Given the description of an element on the screen output the (x, y) to click on. 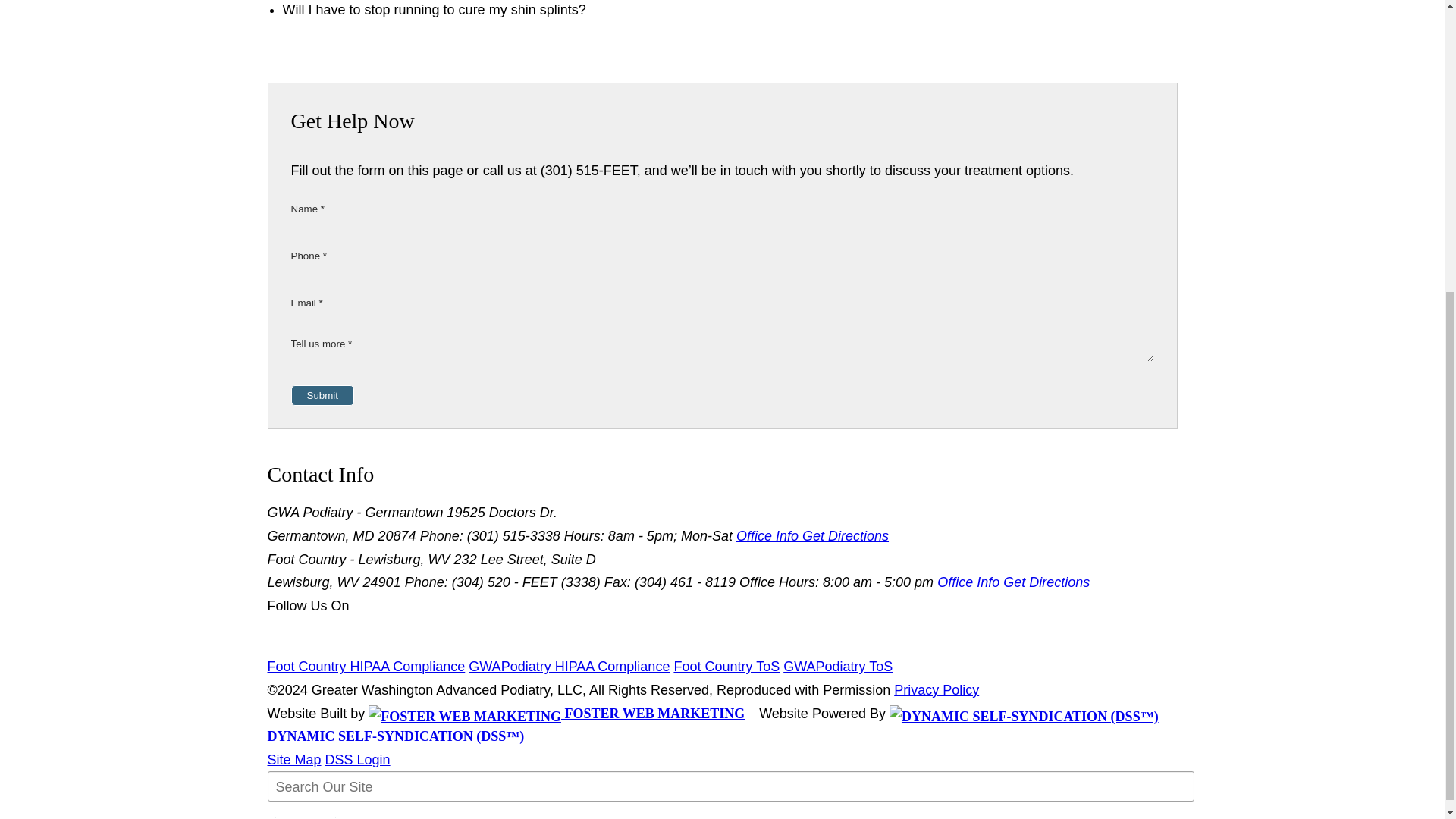
Submit (322, 394)
Will I have to stop running to cure my shin splints? (729, 11)
Office Info (769, 535)
Search (304, 817)
Get Directions (845, 535)
